Given the description of an element on the screen output the (x, y) to click on. 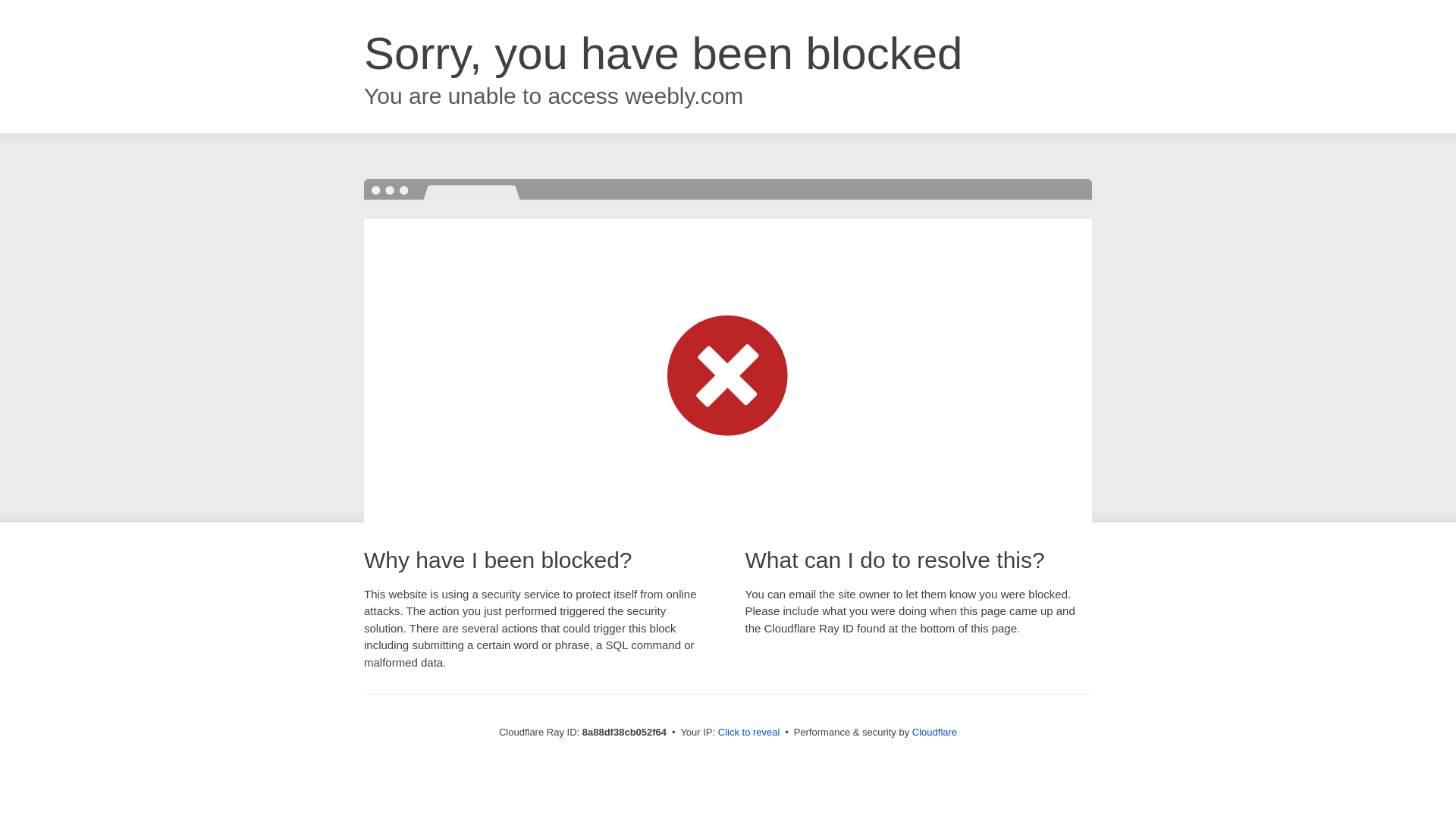
Click to reveal (748, 732)
Cloudflare (934, 731)
